Given the description of an element on the screen output the (x, y) to click on. 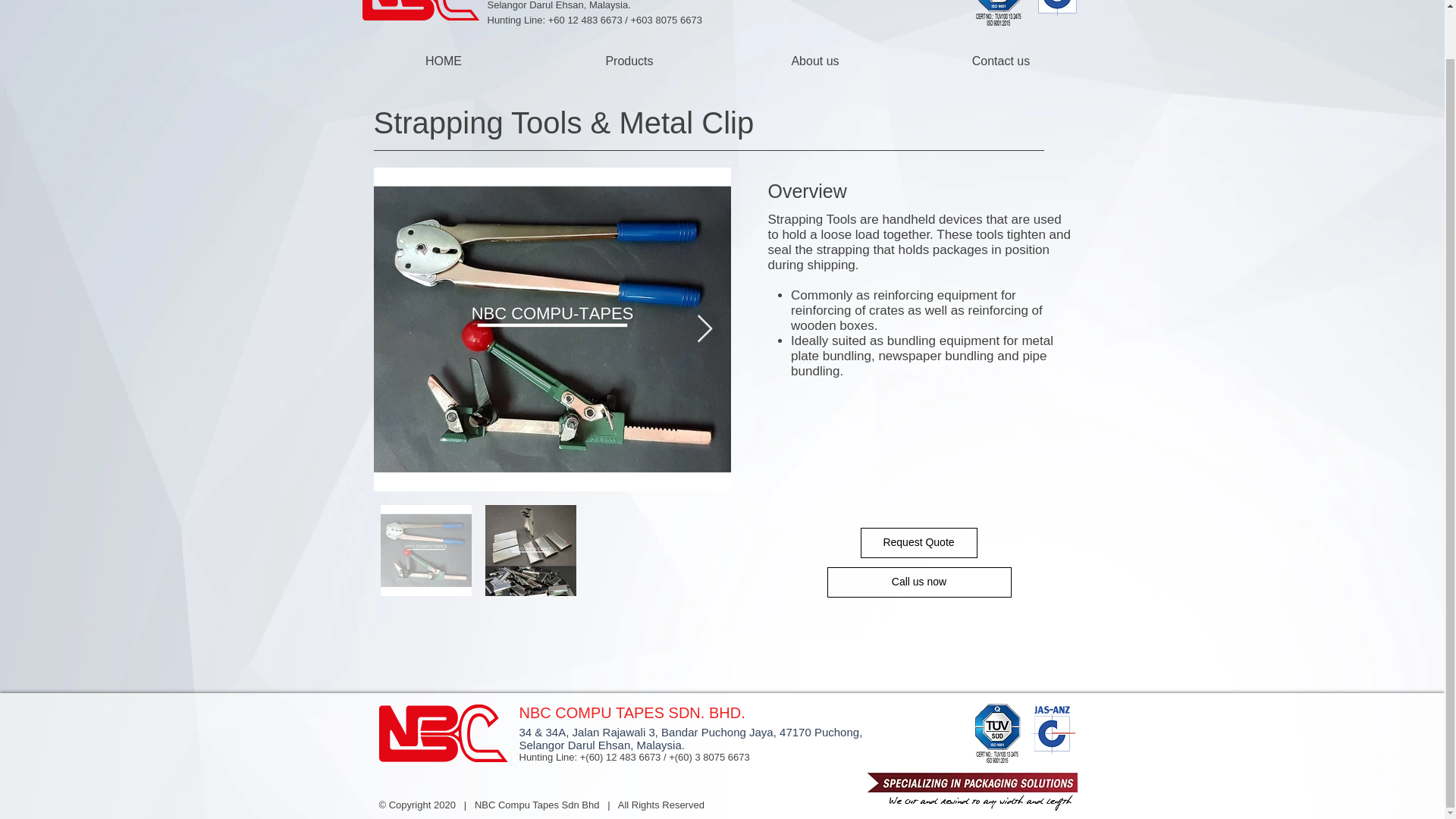
Contact us (1001, 60)
Call us now (918, 582)
Request Quote (918, 542)
About us (814, 60)
HOME (442, 60)
